Given the description of an element on the screen output the (x, y) to click on. 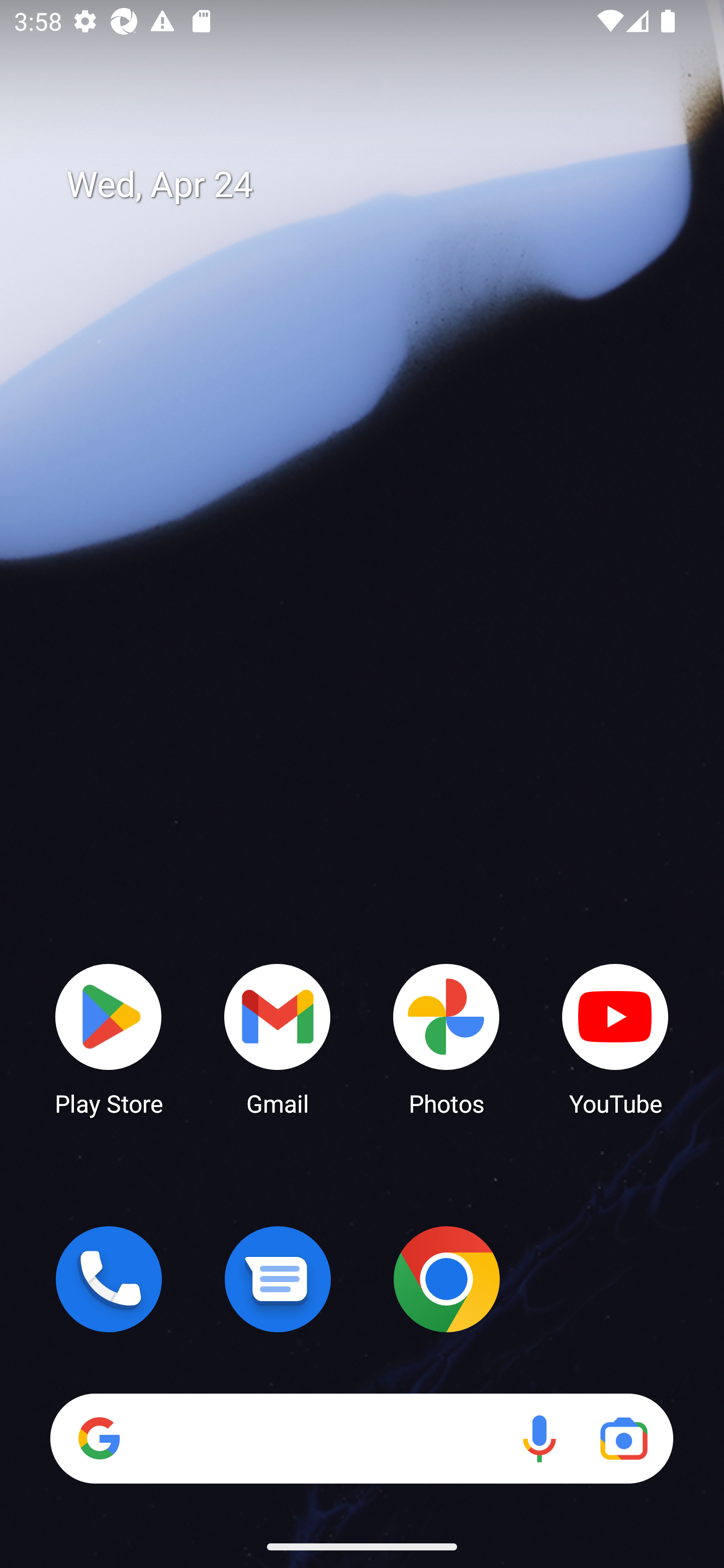
Wed, Apr 24 (375, 184)
Play Store (108, 1038)
Gmail (277, 1038)
Photos (445, 1038)
YouTube (615, 1038)
Phone (108, 1279)
Messages (277, 1279)
Chrome (446, 1279)
Search Voice search Google Lens (361, 1438)
Voice search (539, 1438)
Google Lens (623, 1438)
